Given the description of an element on the screen output the (x, y) to click on. 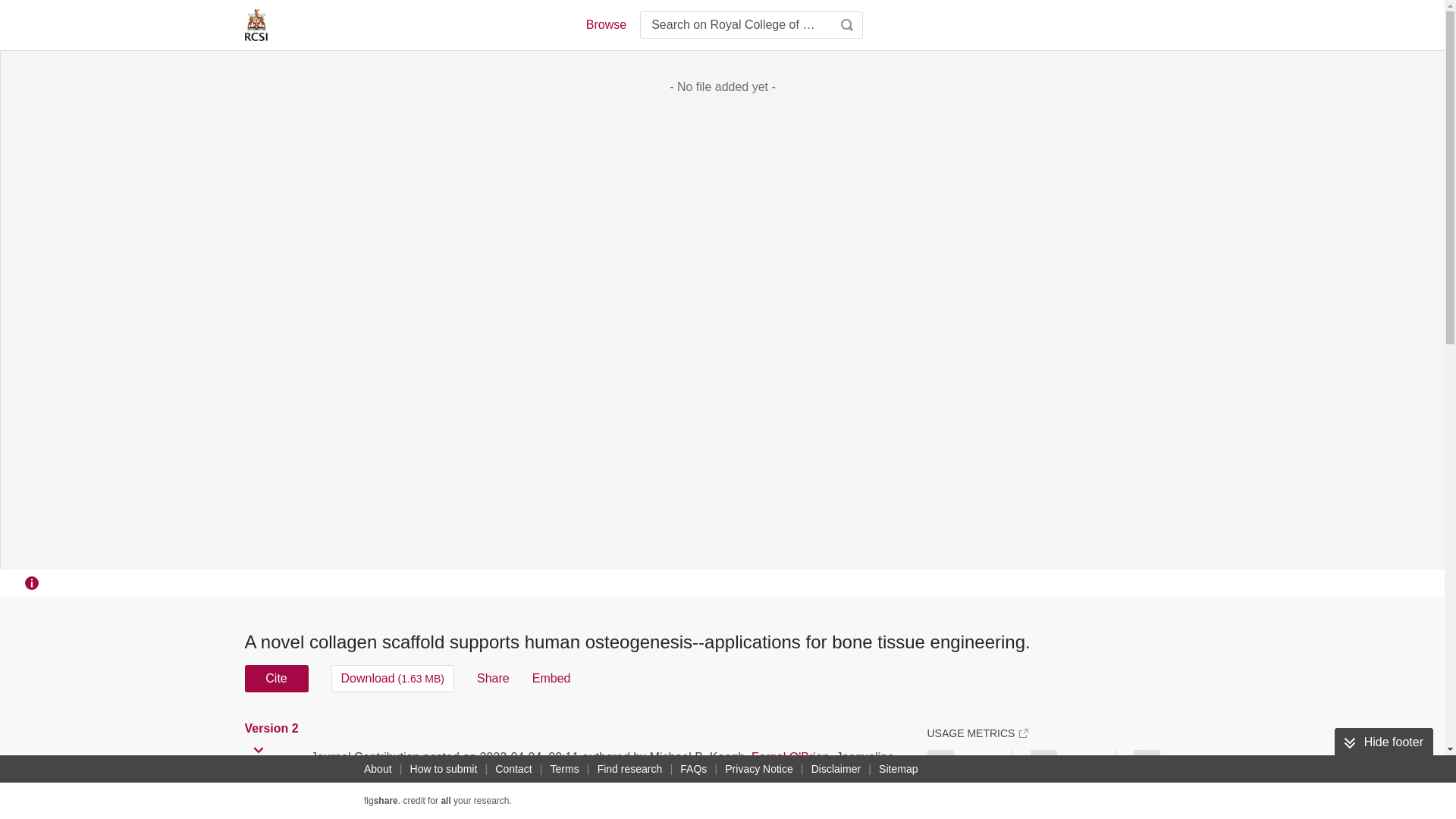
Version 2 (273, 728)
How to submit (443, 769)
Browse (605, 24)
Privacy Notice (758, 769)
About (377, 769)
Fergal O'Brien (790, 757)
FAQs (693, 769)
Jacqueline Daly (318, 775)
Find research (629, 769)
USAGE METRICS (976, 732)
